Given the description of an element on the screen output the (x, y) to click on. 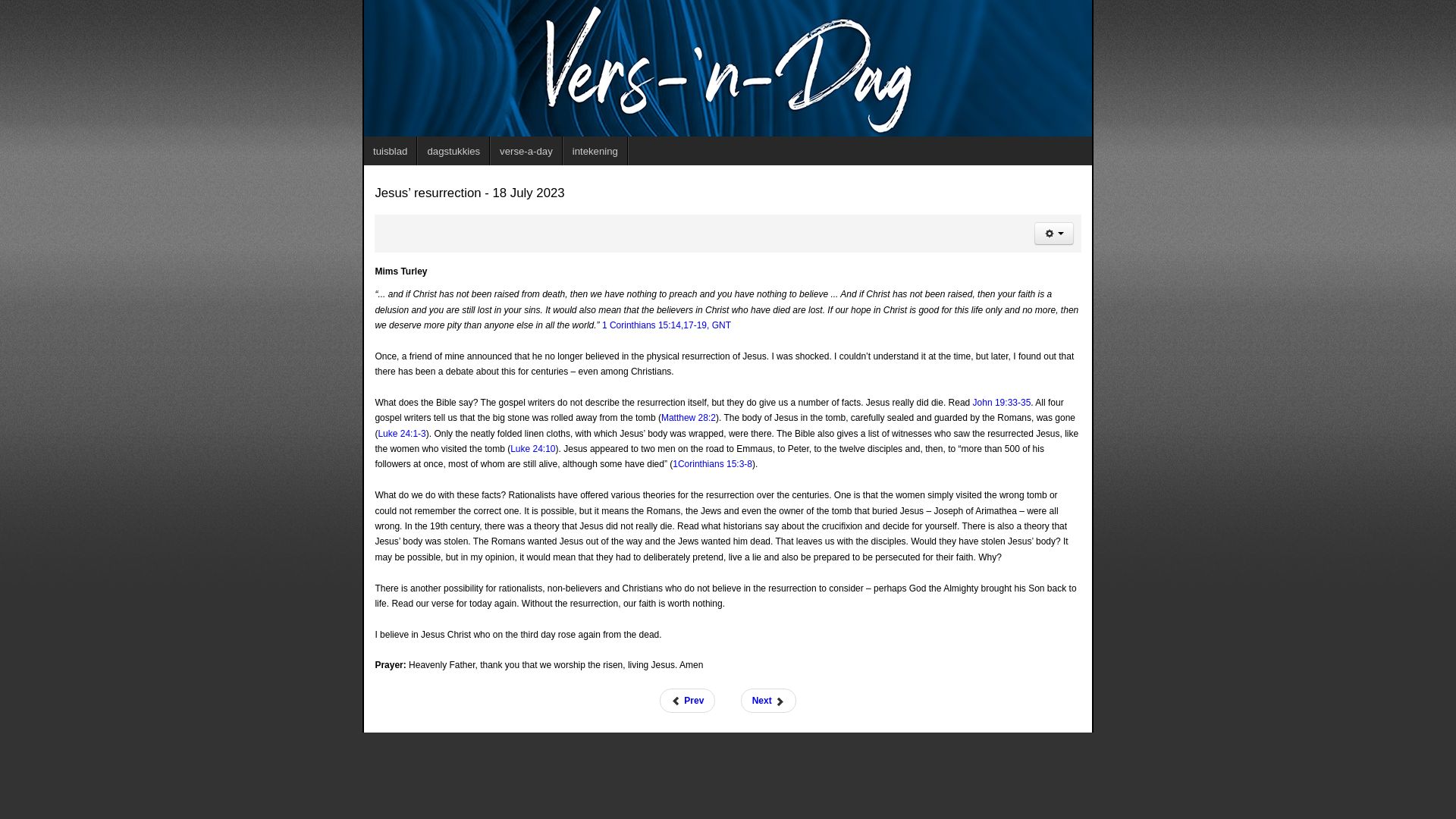
Corinthians 15:3-8 (715, 463)
dagstukkies (453, 150)
intekening (595, 150)
Luke 24:1-3 (401, 433)
verse-a-day (526, 150)
Matthew 28:2 (688, 417)
John 19:33-35 (1001, 402)
Prev (686, 700)
tuisblad (390, 150)
1 Corinthians 15:14,17-19, GNT (666, 325)
Luke 24:10 (532, 448)
Next (768, 700)
1 (675, 463)
